Given the description of an element on the screen output the (x, y) to click on. 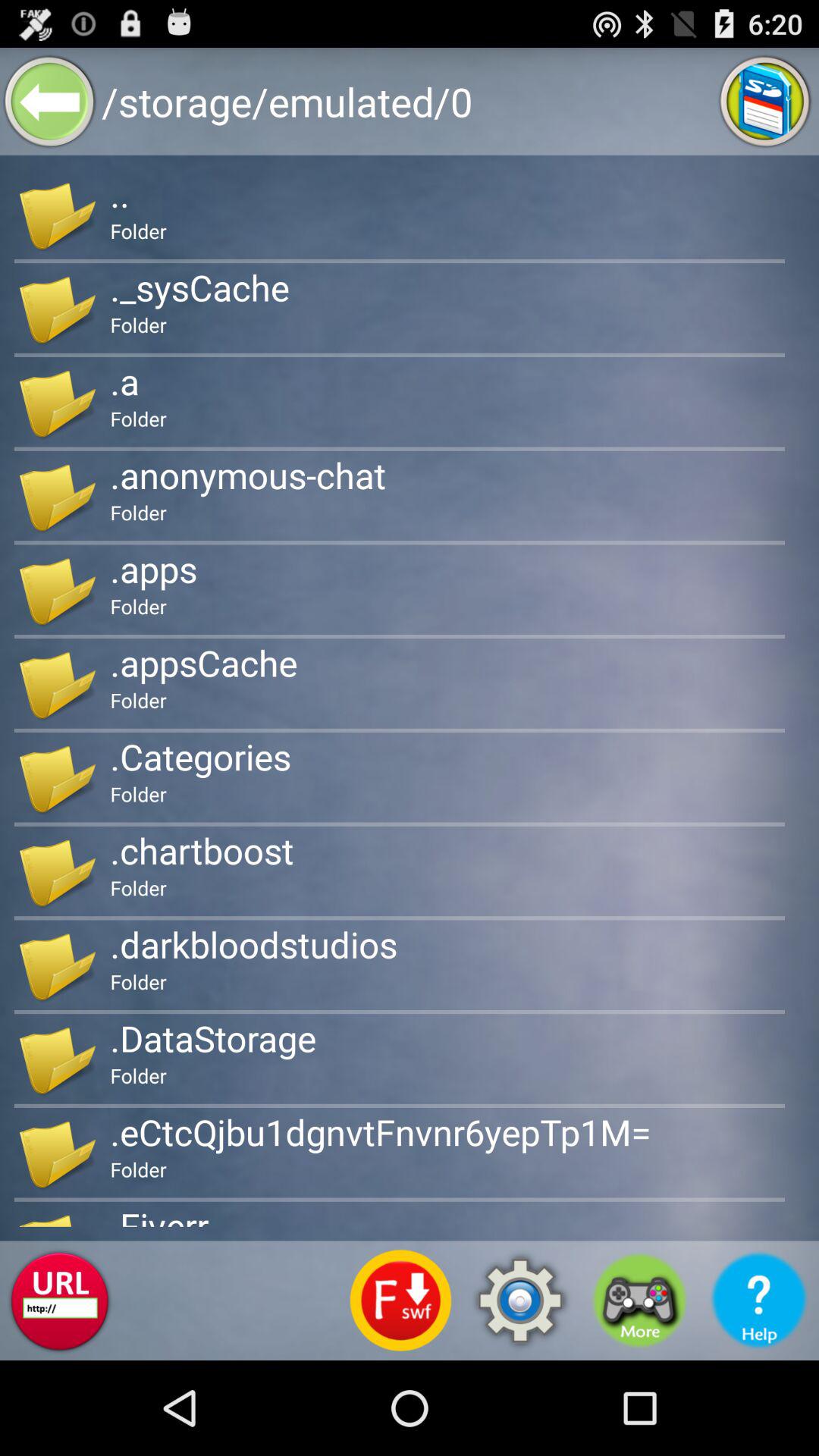
tap the app to the right of /storage/emulated/0 item (765, 101)
